Given the description of an element on the screen output the (x, y) to click on. 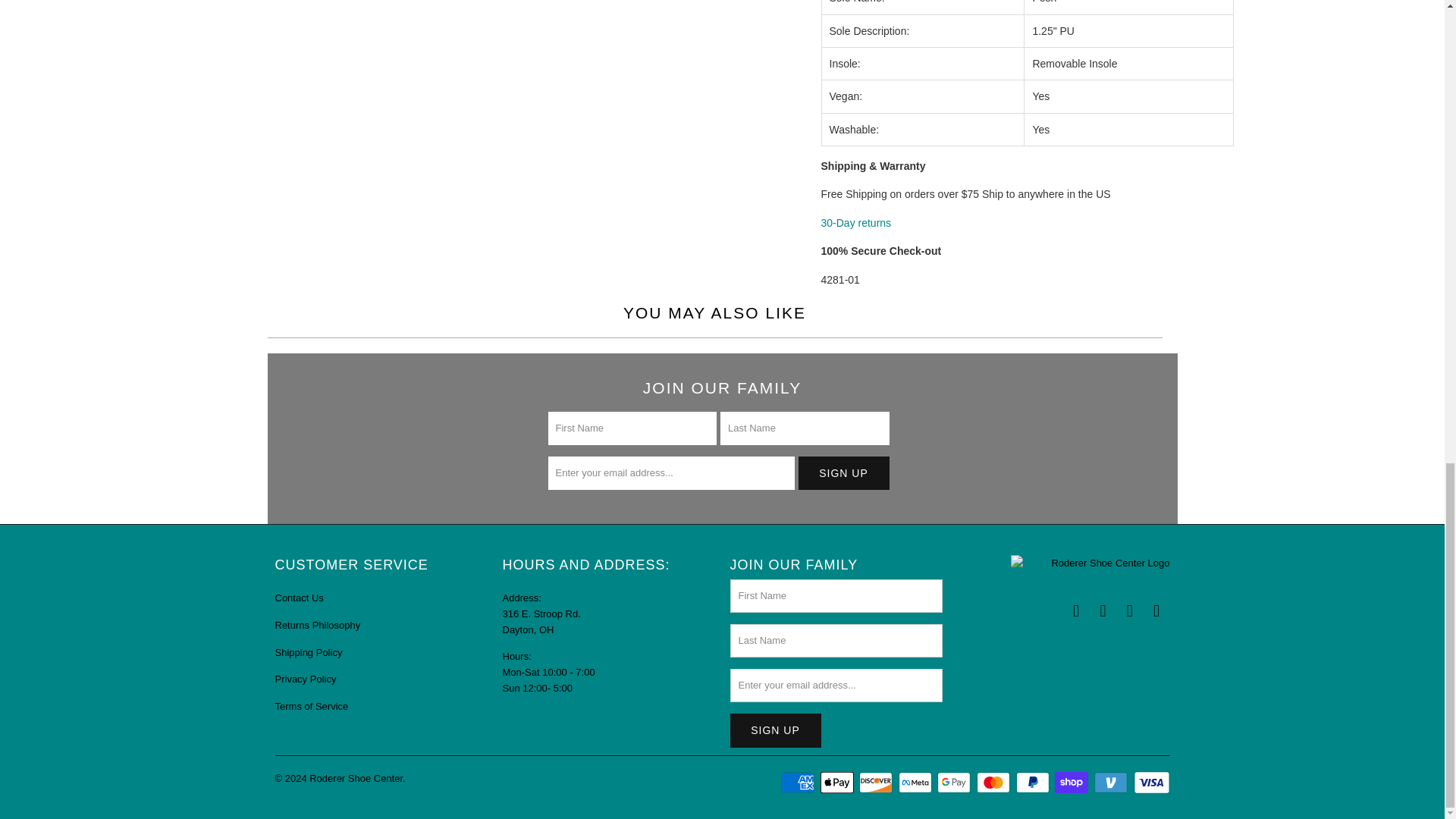
American Express (798, 782)
Apple Pay (839, 782)
Mastercard (994, 782)
Visa (1150, 782)
Discover (877, 782)
Meta Pay (916, 782)
Shop Pay (1072, 782)
Google Pay (955, 782)
PayPal (1034, 782)
Venmo (1112, 782)
